Given the description of an element on the screen output the (x, y) to click on. 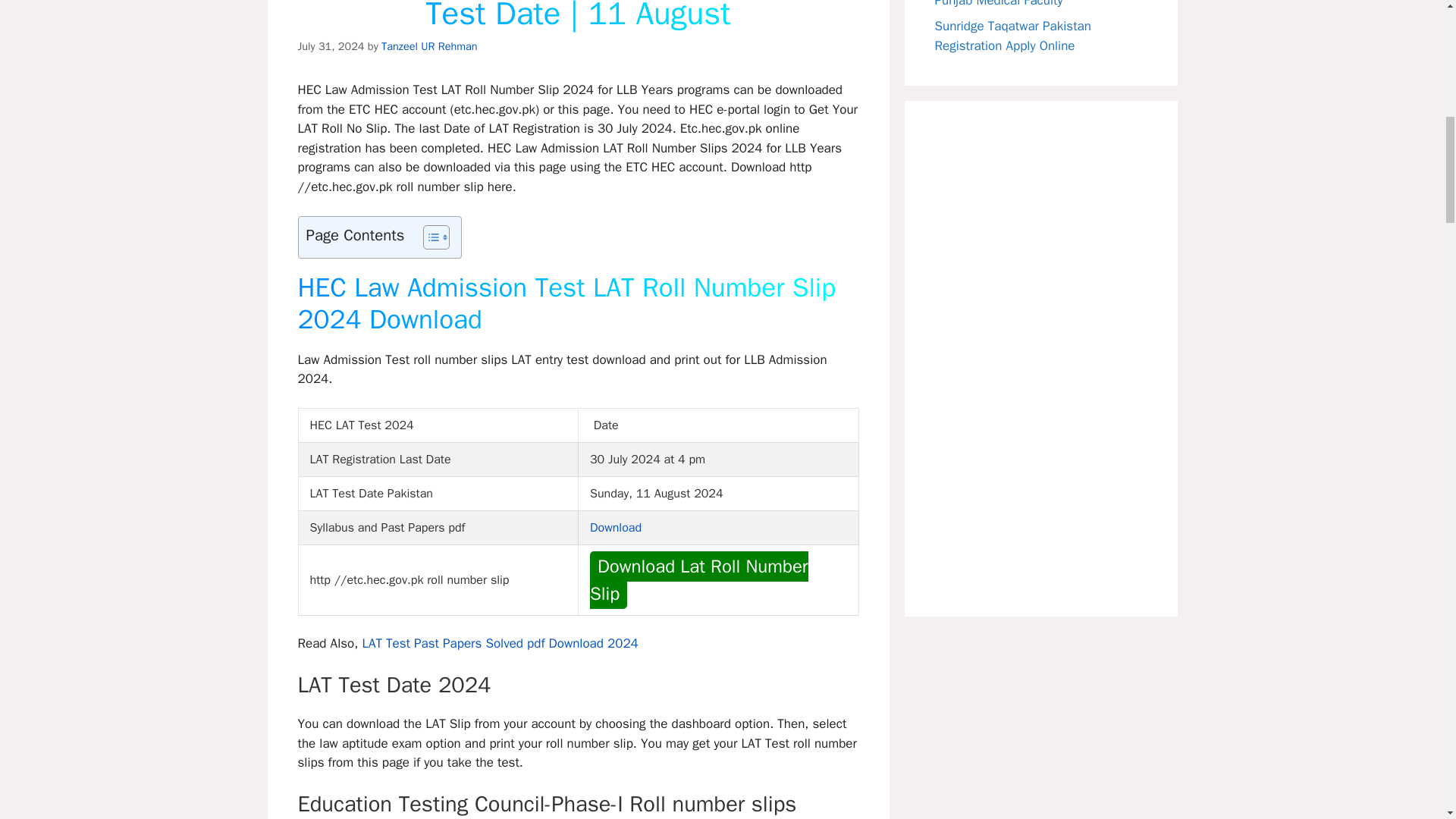
LAT Test Past Papers Solved pdf Download 2024 (499, 643)
Download Lat Roll Number Slip (698, 580)
Download (615, 527)
View all posts by Tanzeel UR Rehman (429, 46)
Tanzeel UR Rehman (429, 46)
